Given the description of an element on the screen output the (x, y) to click on. 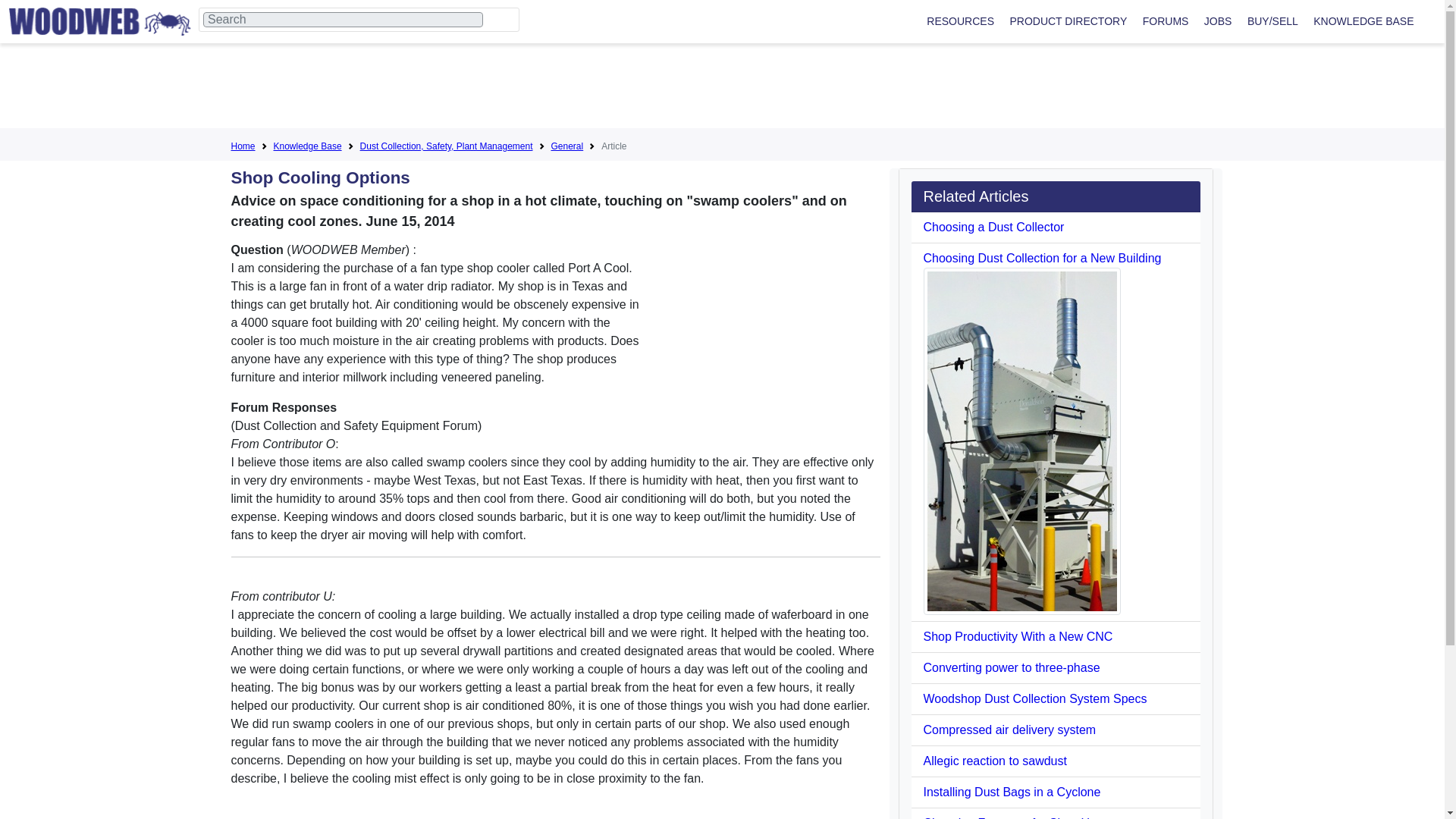
PRODUCT DIRECTORY (1067, 21)
RESOURCES (960, 21)
